Given the description of an element on the screen output the (x, y) to click on. 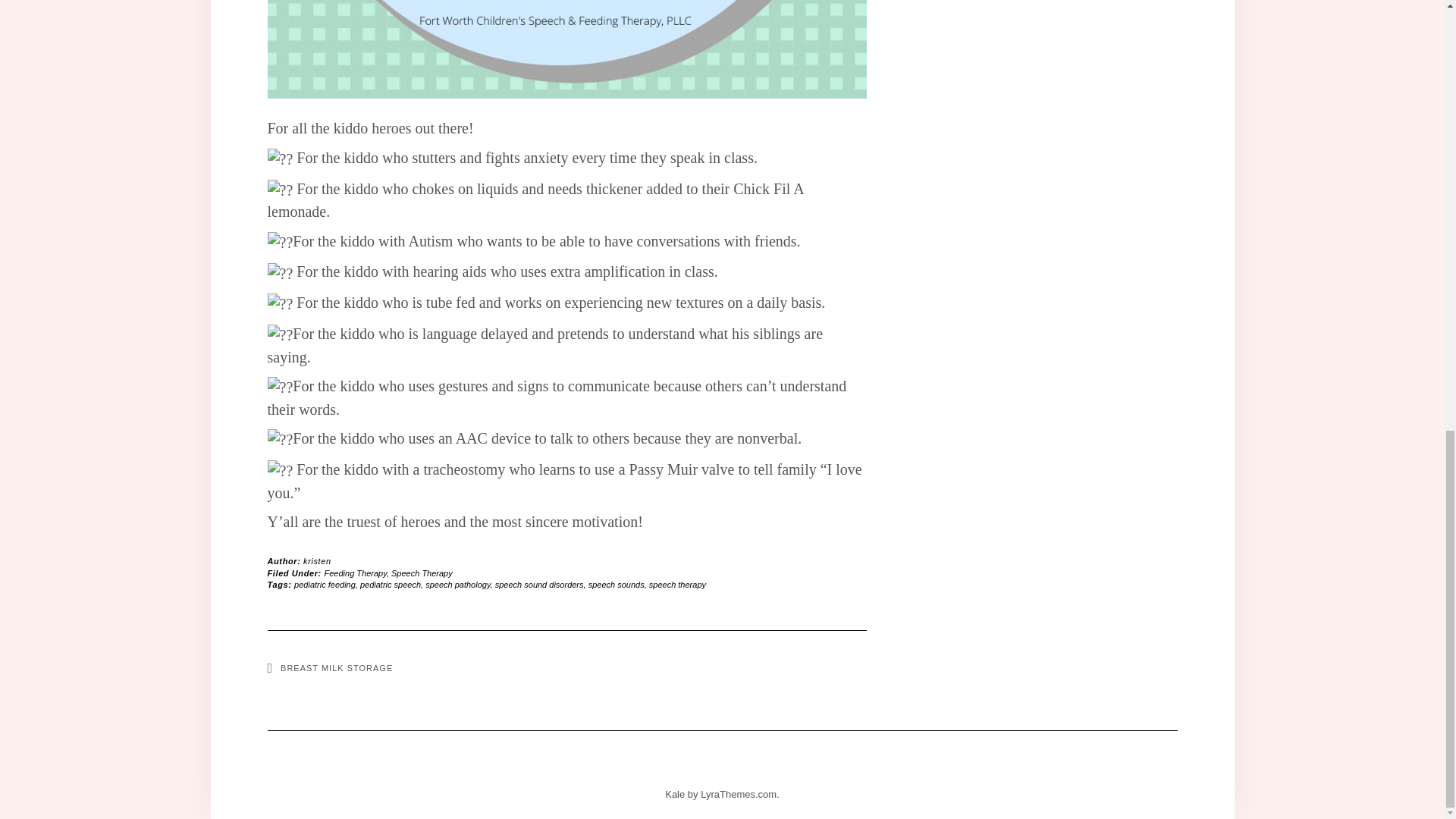
pediatric feeding (324, 583)
Posts by kristen (316, 560)
Kale (674, 794)
speech pathology (457, 583)
Feeding Therapy (355, 573)
speech sound disorders (539, 583)
Speech Therapy (421, 573)
pediatric speech (389, 583)
BREAST MILK STORAGE (329, 667)
speech sounds (616, 583)
kristen (316, 560)
speech therapy (677, 583)
